Given the description of an element on the screen output the (x, y) to click on. 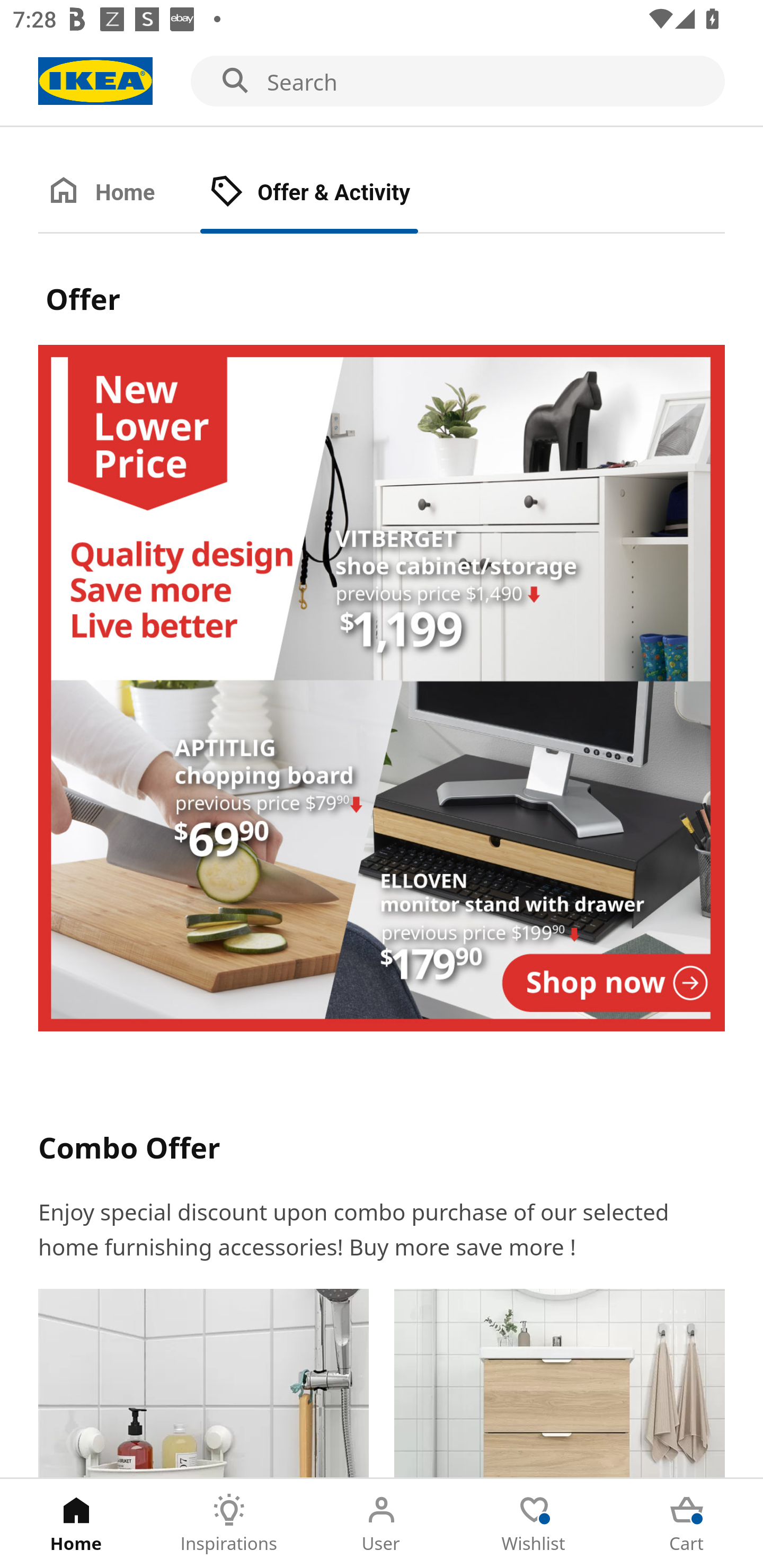
Search (381, 81)
Home
Tab 1 of 2 (118, 192)
Offer & Activity
Tab 2 of 2 (327, 192)
Home
Tab 1 of 5 (76, 1522)
Inspirations
Tab 2 of 5 (228, 1522)
User
Tab 3 of 5 (381, 1522)
Wishlist
Tab 4 of 5 (533, 1522)
Cart
Tab 5 of 5 (686, 1522)
